Given the description of an element on the screen output the (x, y) to click on. 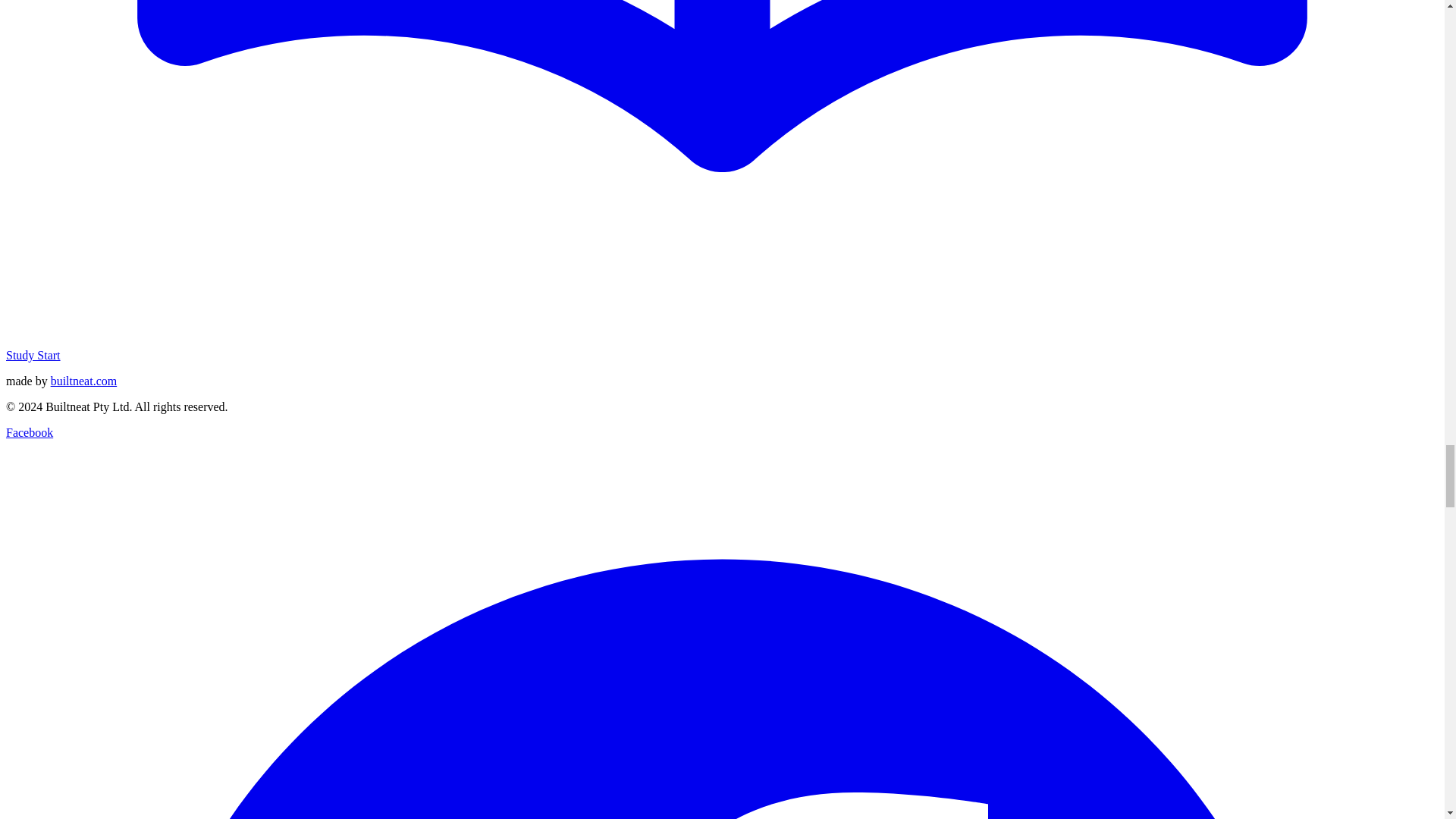
builtneat.com (83, 380)
